Given the description of an element on the screen output the (x, y) to click on. 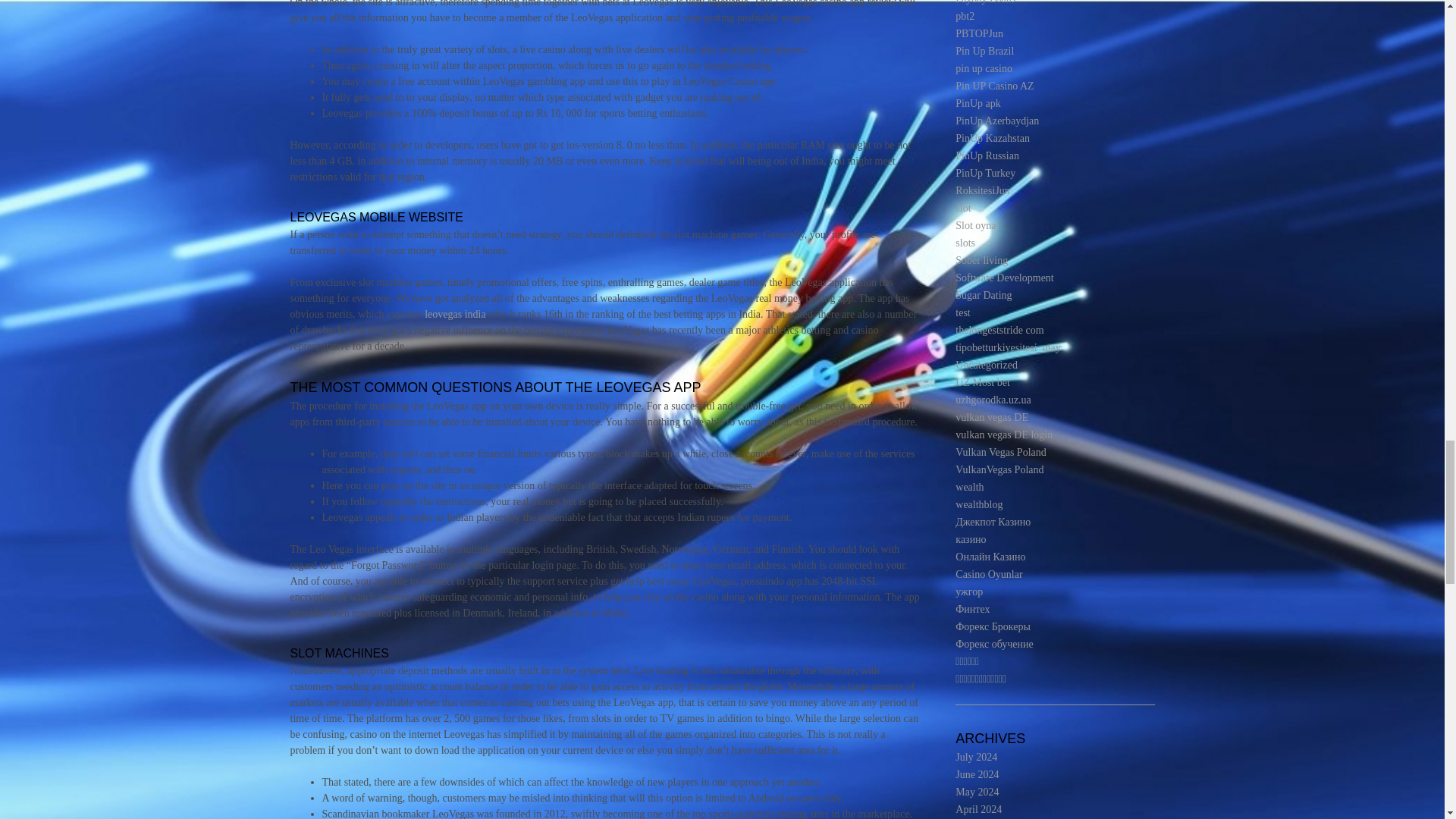
leovegas india (454, 314)
